Given the description of an element on the screen output the (x, y) to click on. 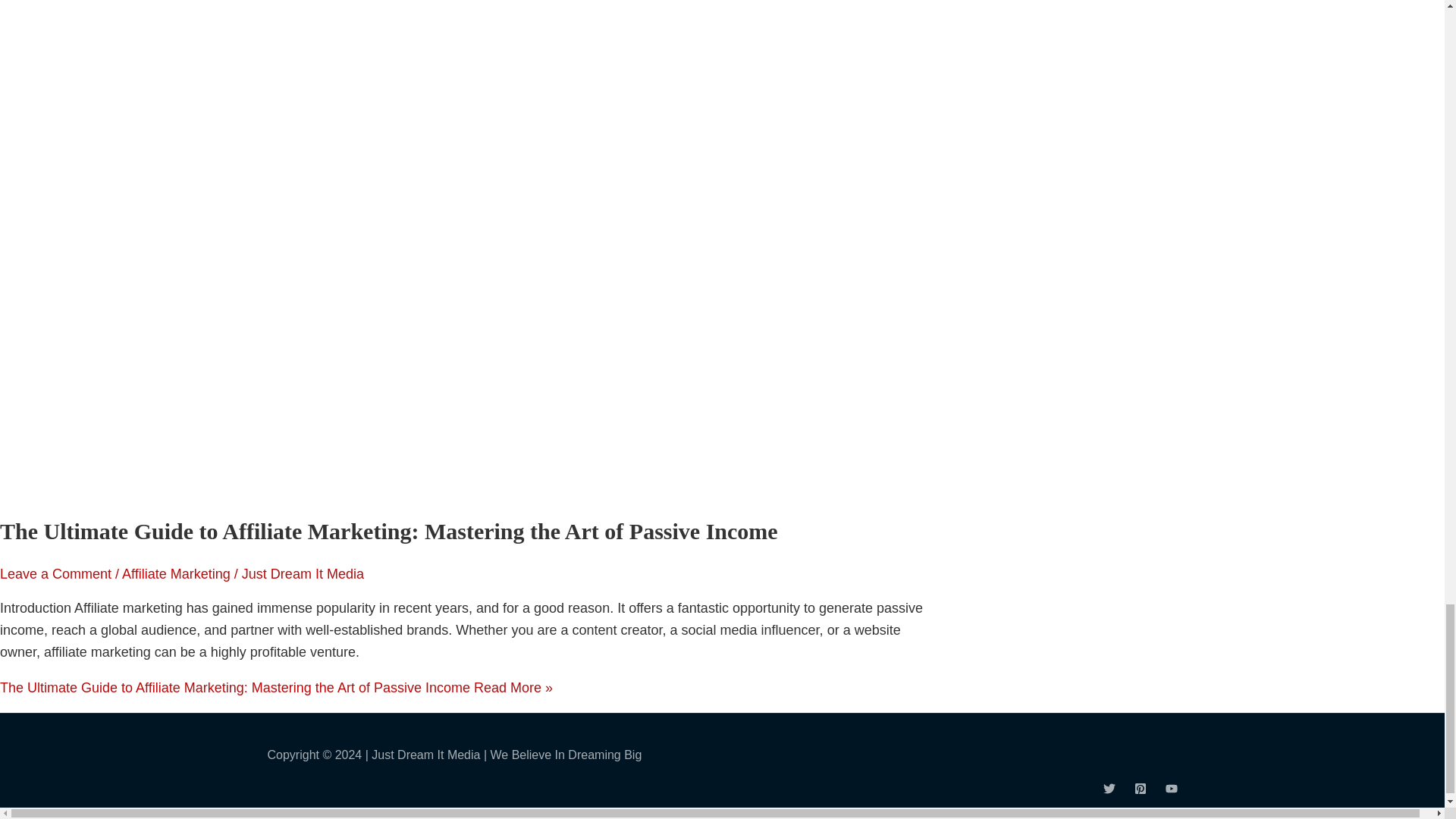
View all posts by Just Dream It Media (302, 573)
